Given the description of an element on the screen output the (x, y) to click on. 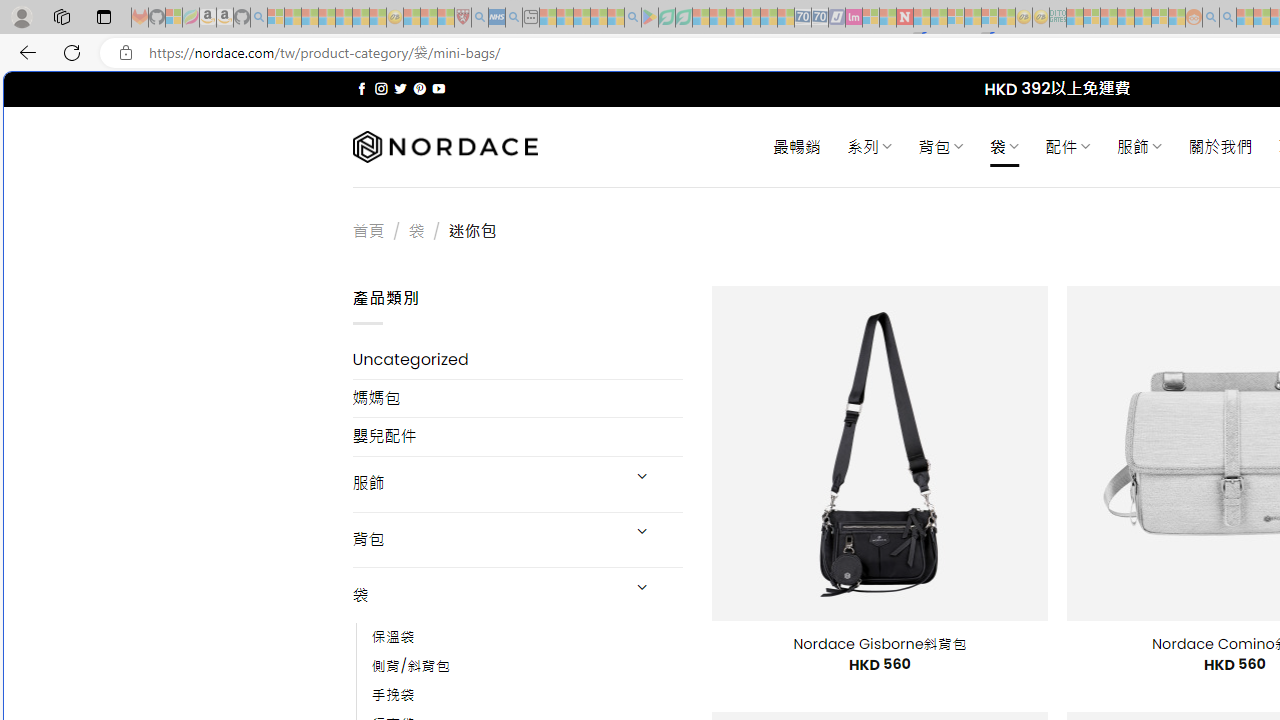
Follow on Pinterest (419, 88)
Microsoft account | Privacy - Sleeping (1091, 17)
Bluey: Let's Play! - Apps on Google Play - Sleeping (649, 17)
MSNBC - MSN - Sleeping (1074, 17)
